Given the description of an element on the screen output the (x, y) to click on. 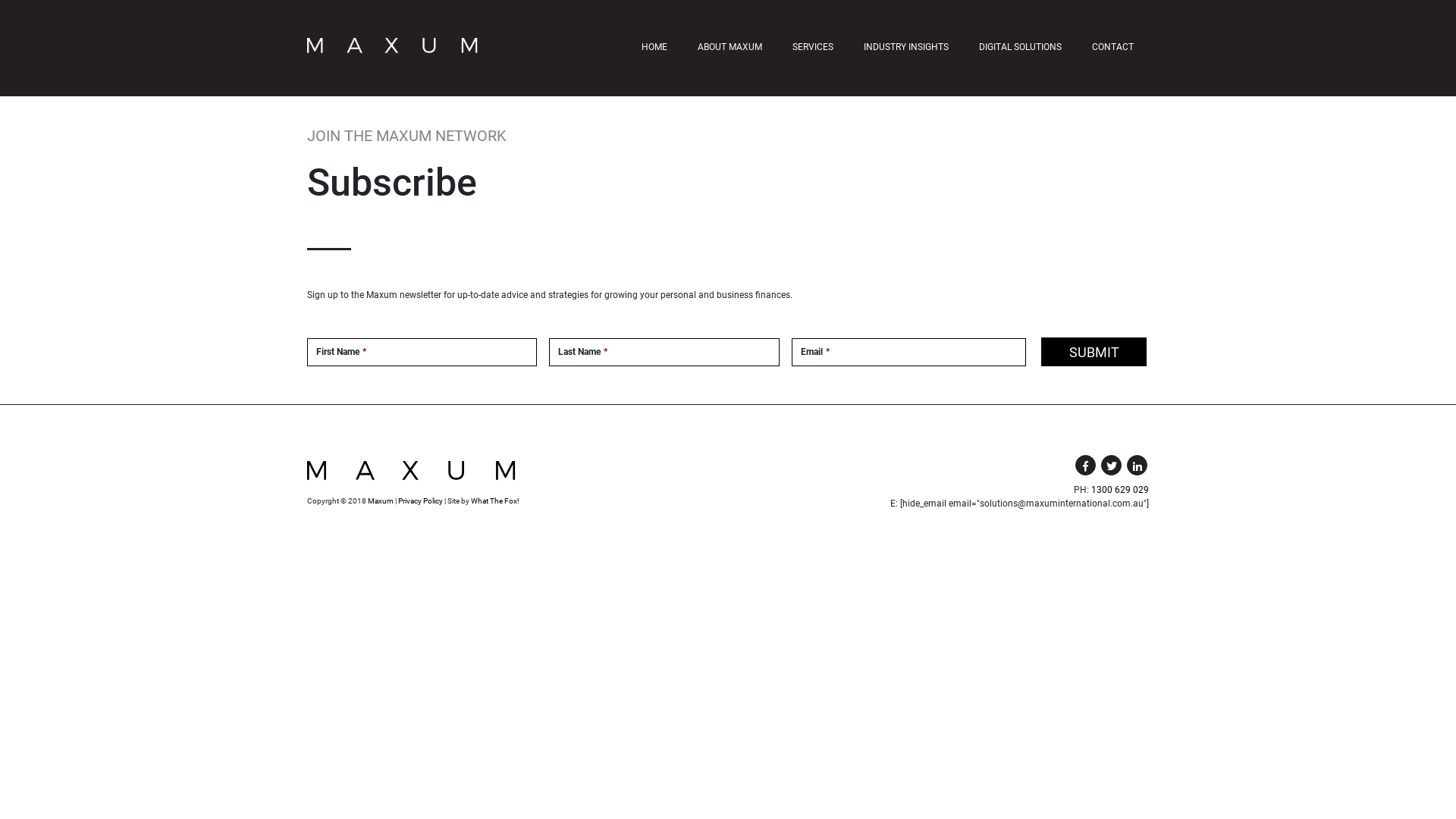
Maxum International on Facebook Element type: hover (1085, 465)
DIGITAL SOLUTIONS Element type: text (1019, 47)
Maxum Element type: text (380, 500)
CONTACT Element type: text (1112, 47)
Maxum International on Twitter Element type: hover (1111, 465)
INDUSTRY INSIGHTS Element type: text (905, 47)
What The Fox! Element type: text (494, 500)
ABOUT MAXUM Element type: text (729, 47)
Maxum International on LinkedIn Element type: hover (1136, 465)
Submit Element type: text (1093, 351)
SERVICES Element type: text (812, 47)
HOME Element type: text (654, 47)
1300 629 029 Element type: text (1119, 489)
Privacy Policy Element type: text (420, 500)
